Given the description of an element on the screen output the (x, y) to click on. 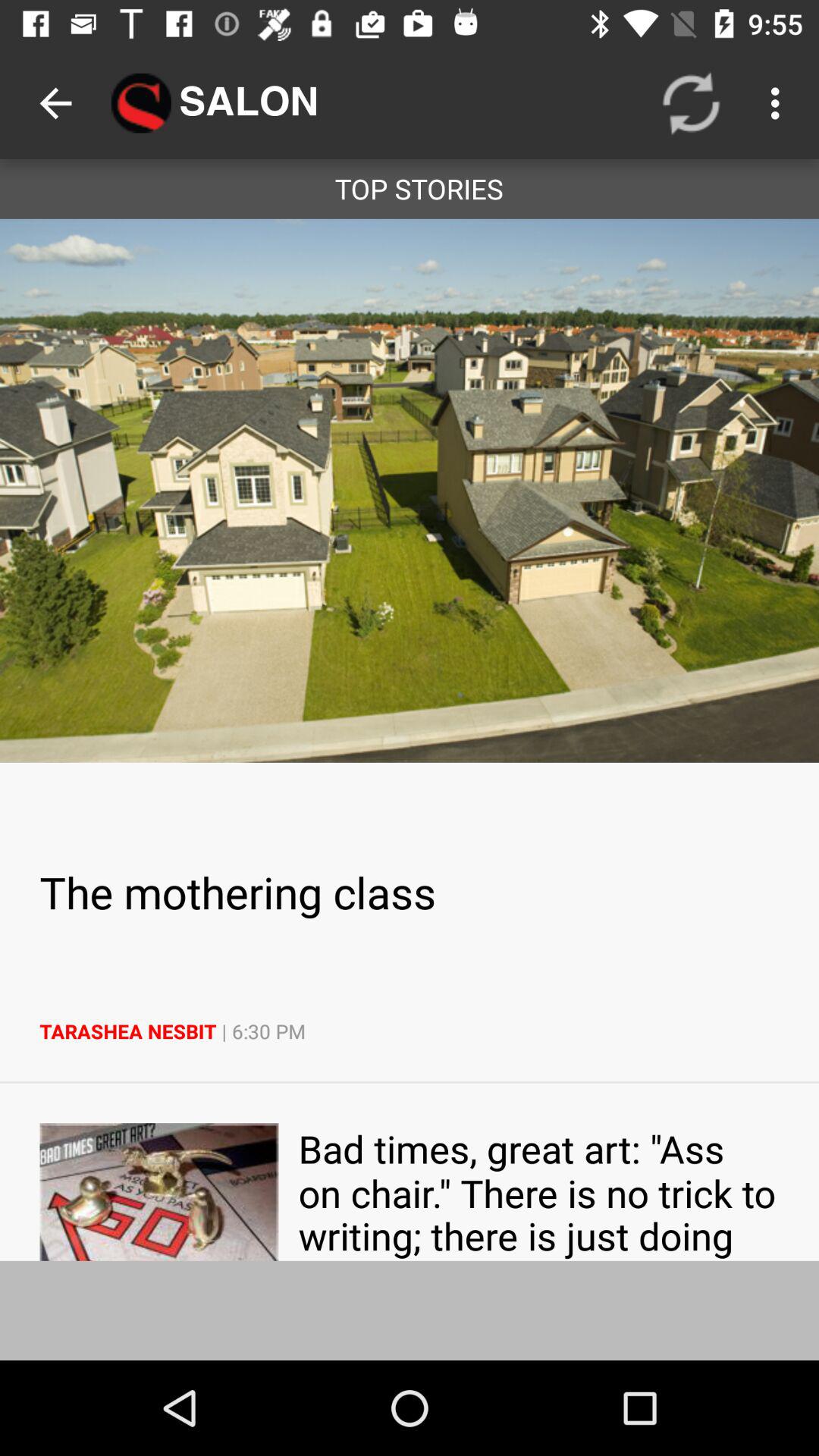
turn on item below the the mothering class icon (409, 1031)
